Given the description of an element on the screen output the (x, y) to click on. 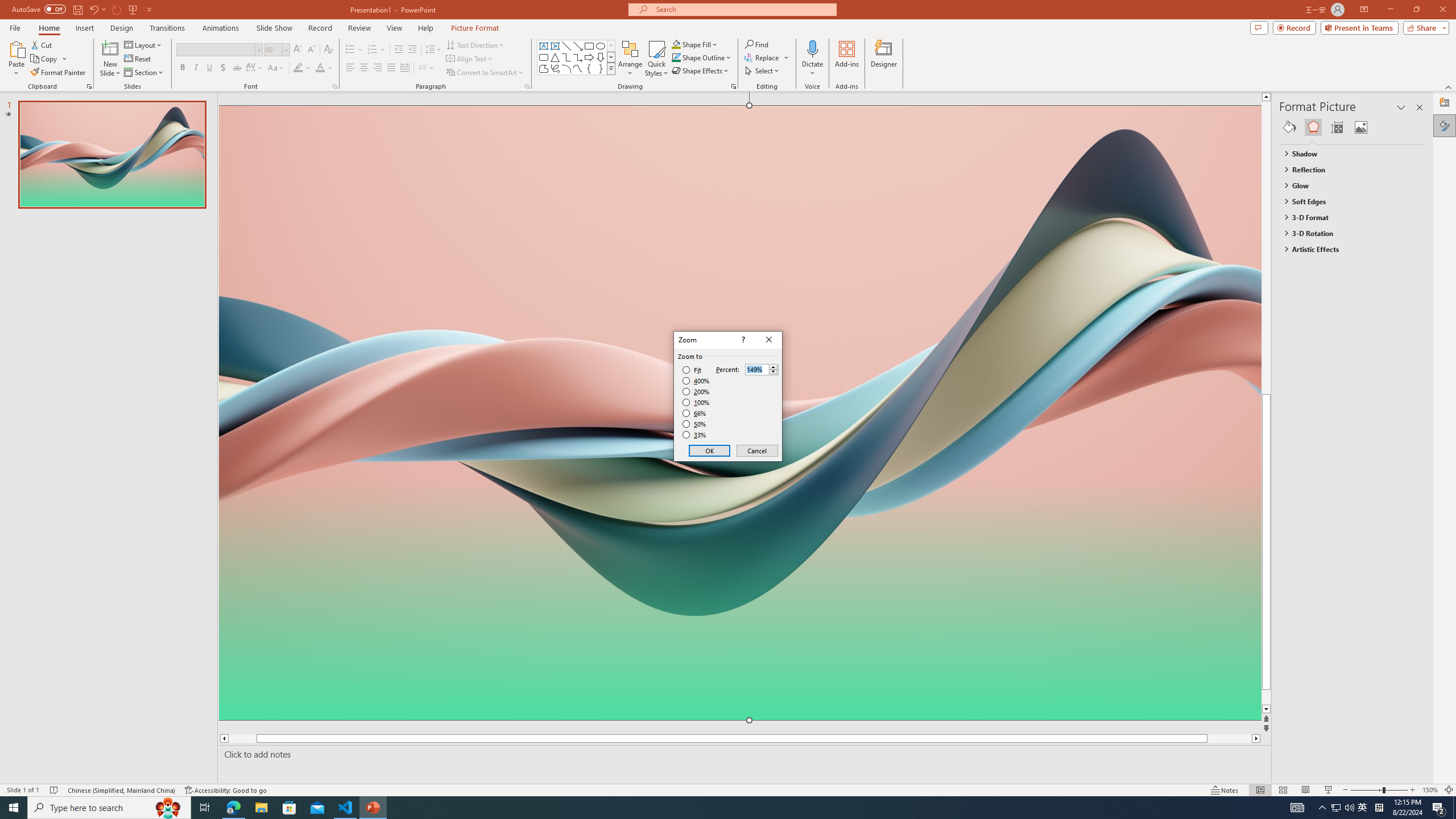
Fill & Line (1288, 126)
Picture Format (475, 28)
Picture (1361, 126)
